Given the description of an element on the screen output the (x, y) to click on. 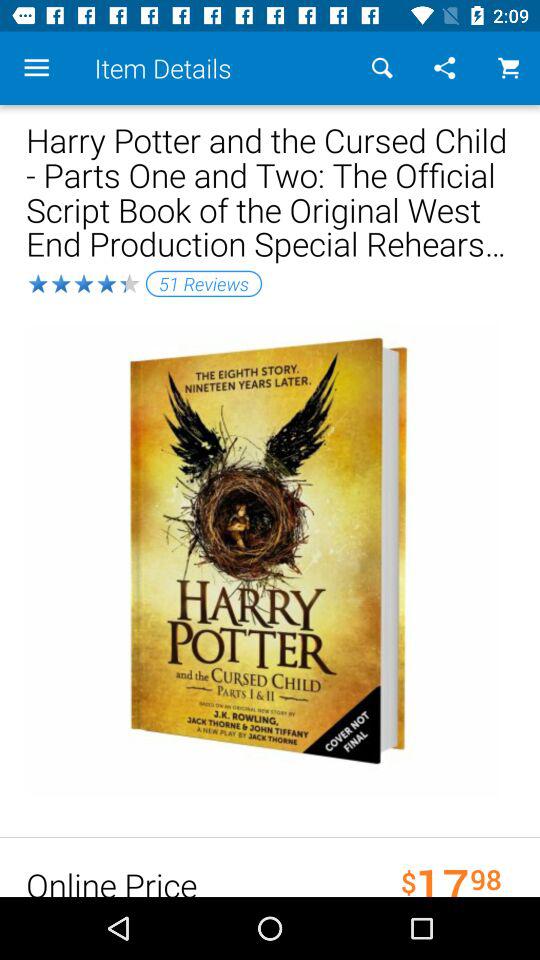
press app to the left of the item details item (36, 68)
